Given the description of an element on the screen output the (x, y) to click on. 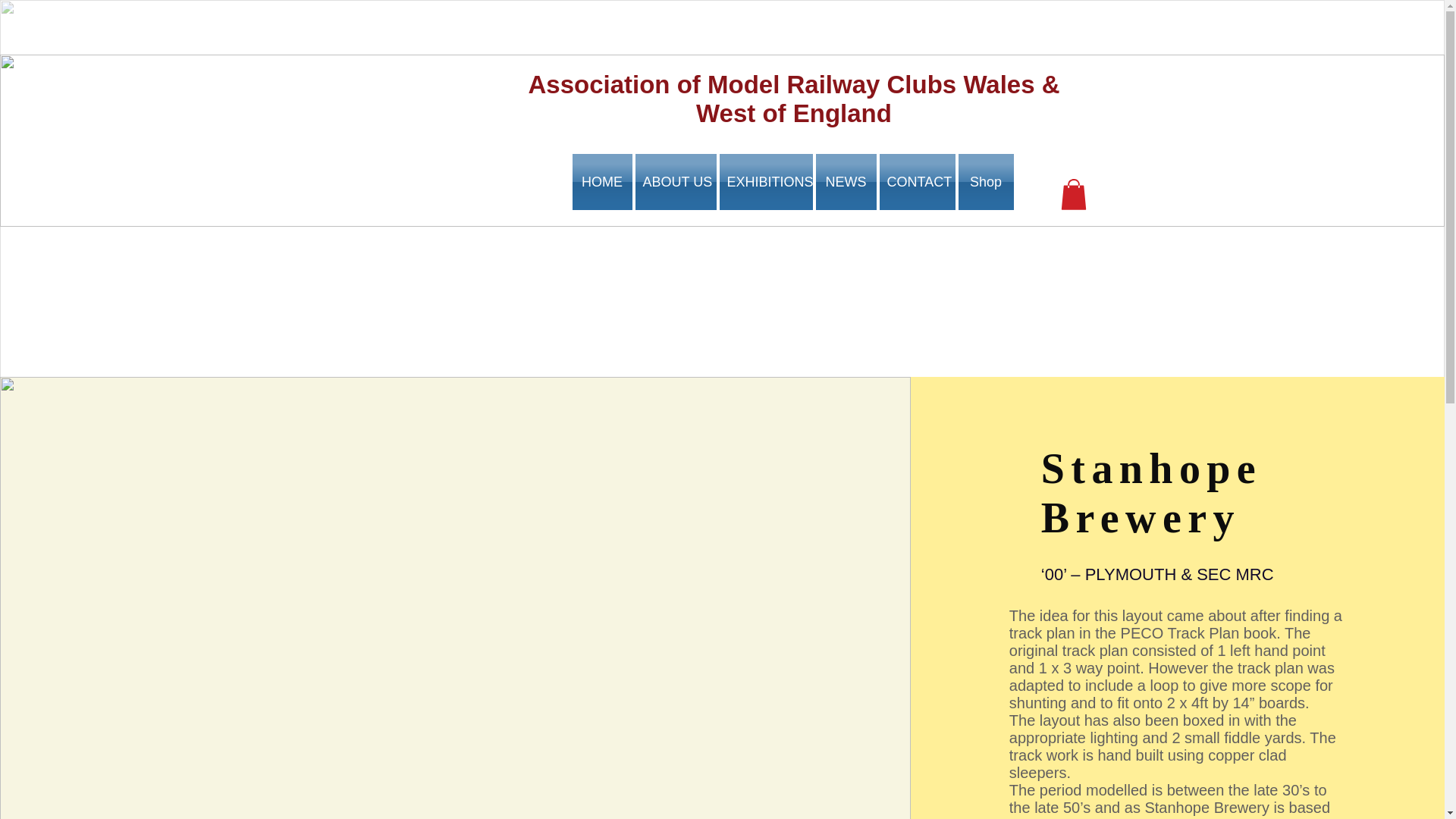
ABOUT US (675, 181)
CONTACT (916, 181)
Shop (984, 181)
EXHIBITIONS (765, 181)
NEWS (845, 181)
HOME (602, 181)
